Given the description of an element on the screen output the (x, y) to click on. 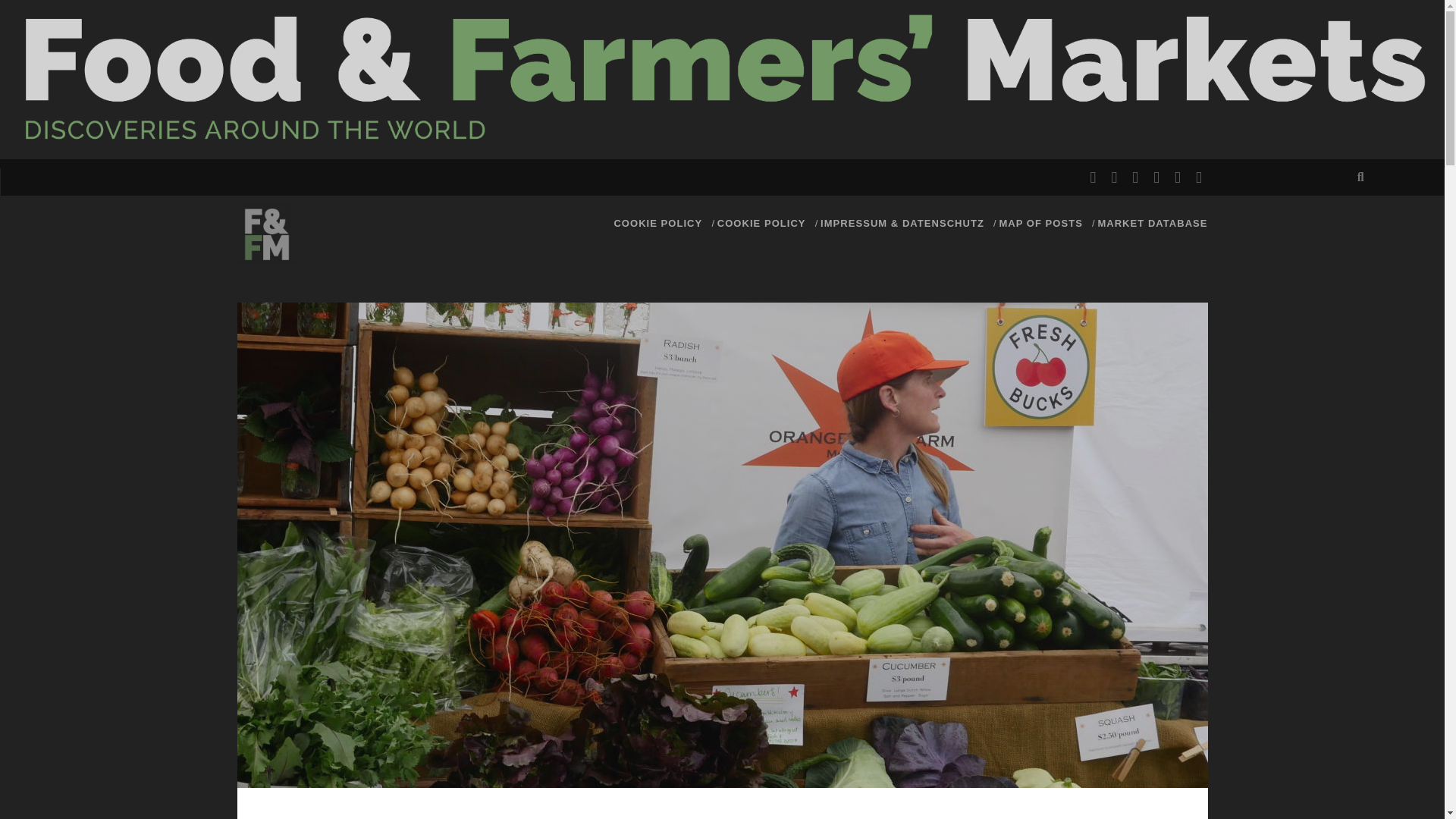
COOKIE POLICY (656, 223)
MAP OF POSTS (1039, 223)
COOKIE POLICY (761, 223)
MARKET DATABASE (1152, 223)
